Given the description of an element on the screen output the (x, y) to click on. 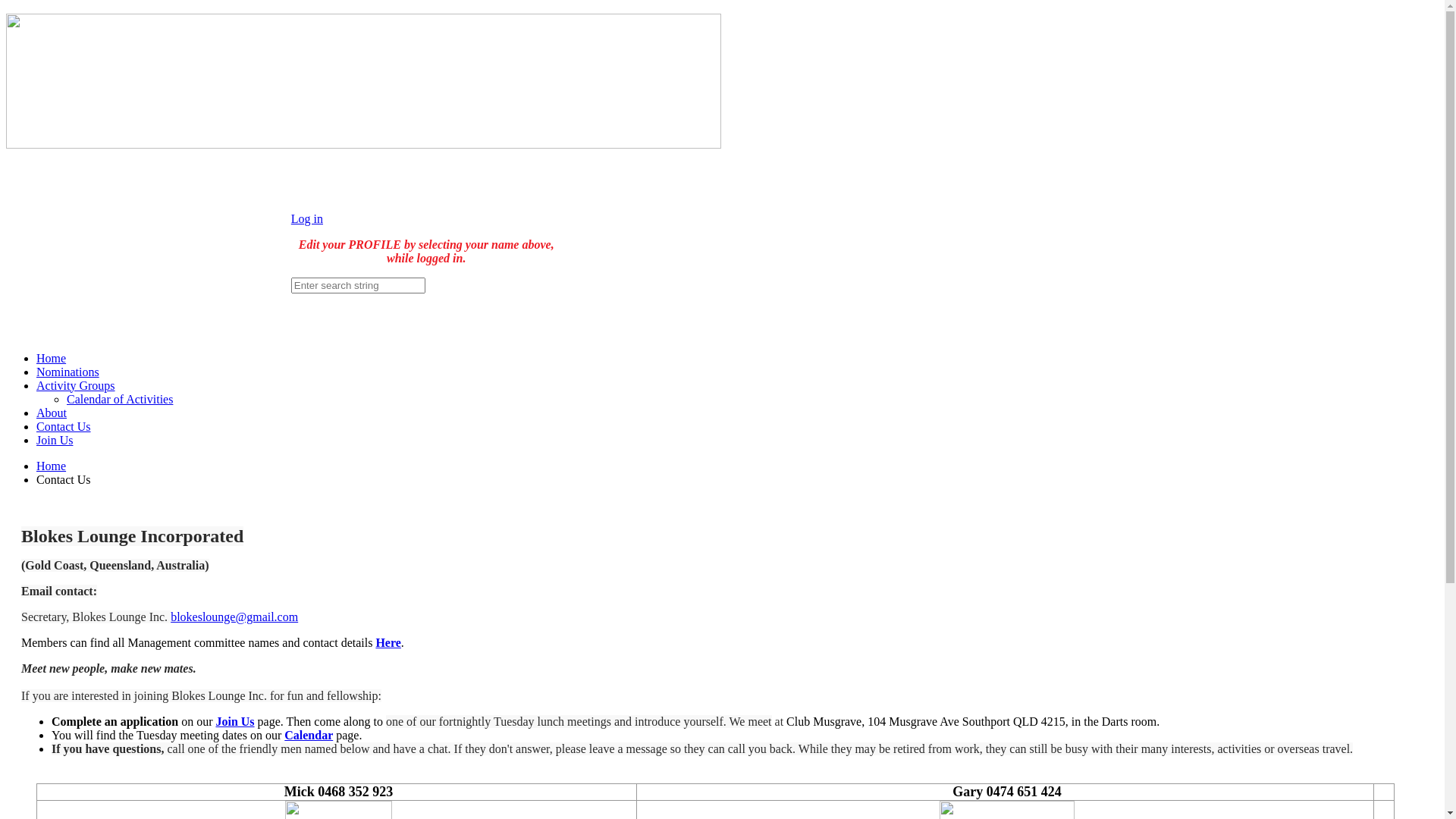
Calendar of Activities Element type: text (119, 398)
Home Element type: text (50, 357)
Log in Element type: text (307, 218)
Activity Groups Element type: text (75, 385)
Nominations Element type: text (67, 371)
Calendar Element type: text (308, 734)
blokeslounge@gmail.com Element type: text (234, 616)
Join Us Element type: text (234, 721)
Join Us Element type: text (54, 439)
Here Element type: text (387, 642)
Home Element type: text (50, 465)
About Element type: text (51, 412)
Contact Us Element type: text (63, 426)
